Given the description of an element on the screen output the (x, y) to click on. 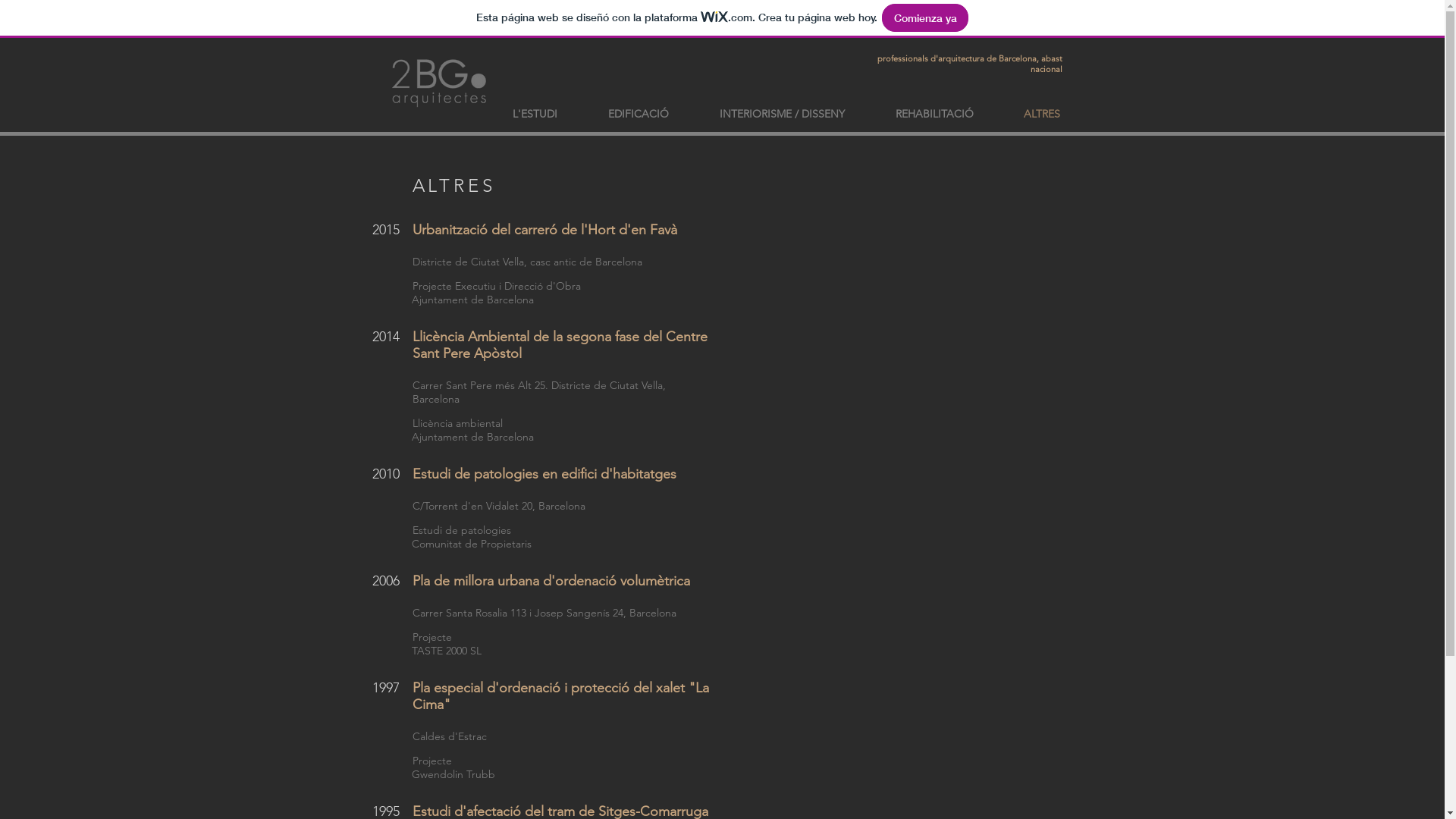
INTERIORISME / DISSENY Element type: text (782, 113)
L'ESTUDI Element type: text (534, 113)
ALTRES Element type: text (1040, 113)
